Given the description of an element on the screen output the (x, y) to click on. 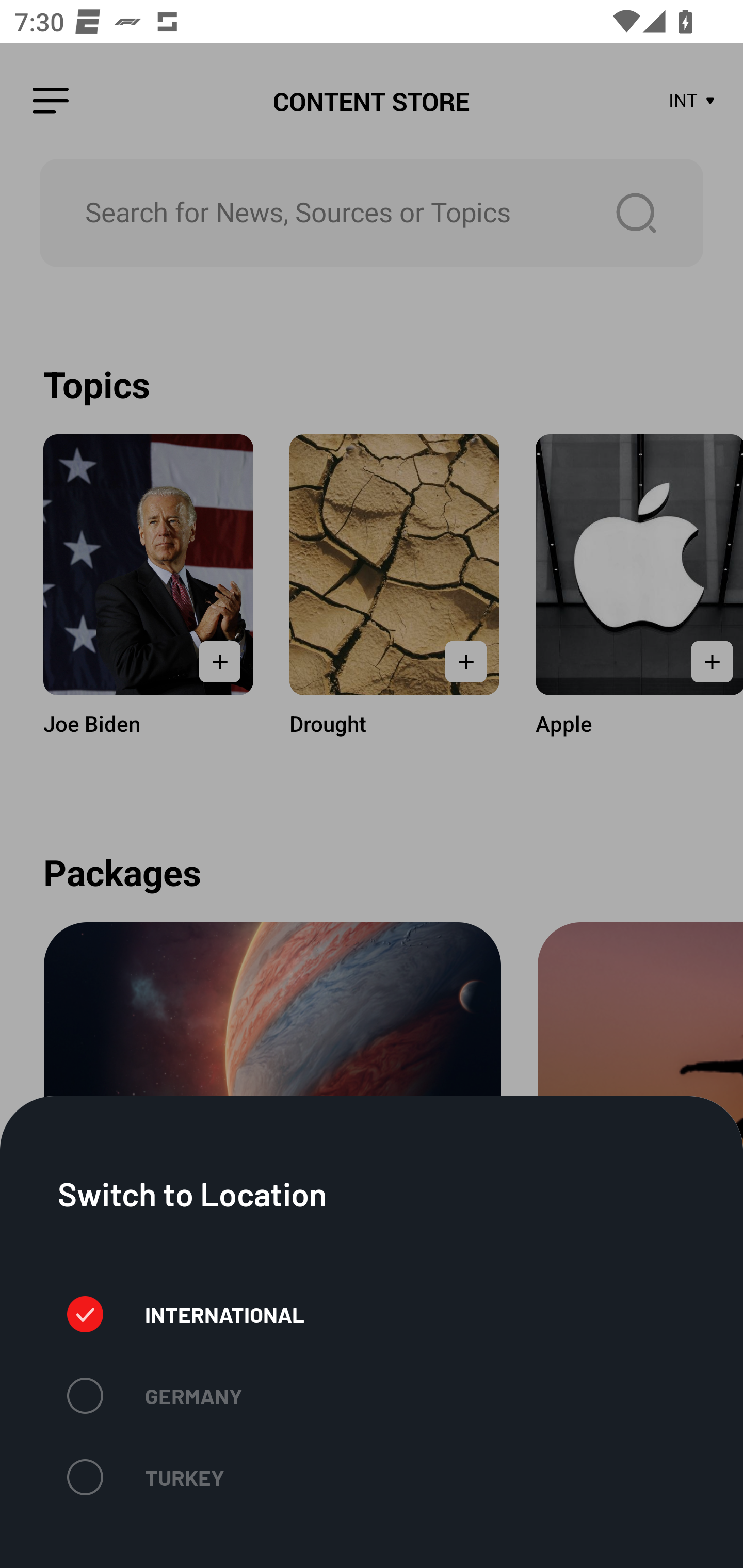
Selected News Style INTERNATIONAL (185, 1314)
GERMANY (154, 1395)
TURKEY (145, 1476)
